Given the description of an element on the screen output the (x, y) to click on. 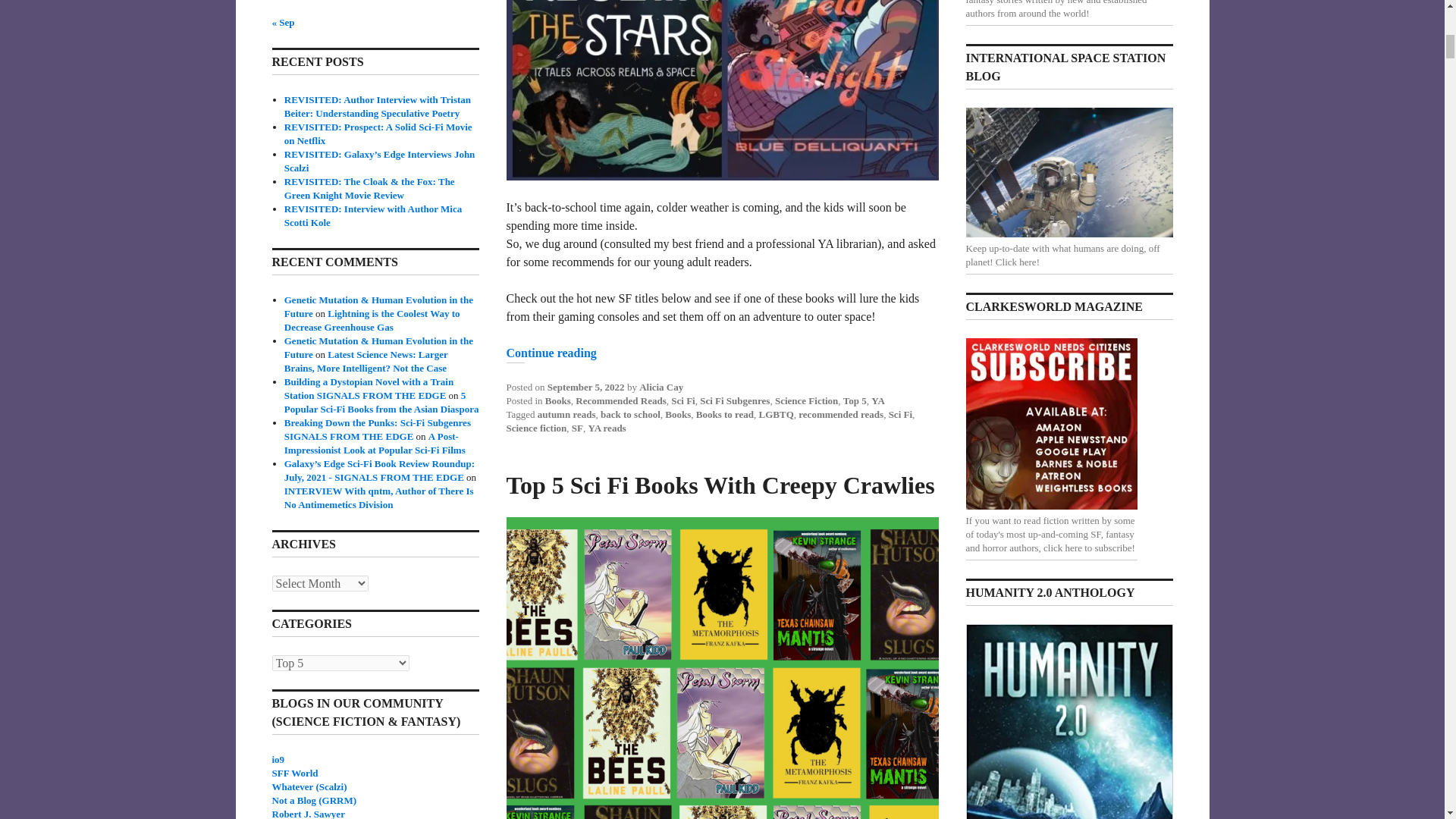
Books (557, 400)
HUMANITY 2.0 ANTHOLOGY (1069, 721)
SF (577, 428)
Books to read (724, 414)
Science fiction (536, 428)
Science Fiction (806, 400)
autumn reads (566, 414)
Sci Fi (900, 414)
YA (877, 400)
back to school (630, 414)
Sci Fi (682, 400)
September 5, 2022 (585, 387)
Recommended Reads (620, 400)
Top 5 (854, 400)
Books (677, 414)
